Given the description of an element on the screen output the (x, y) to click on. 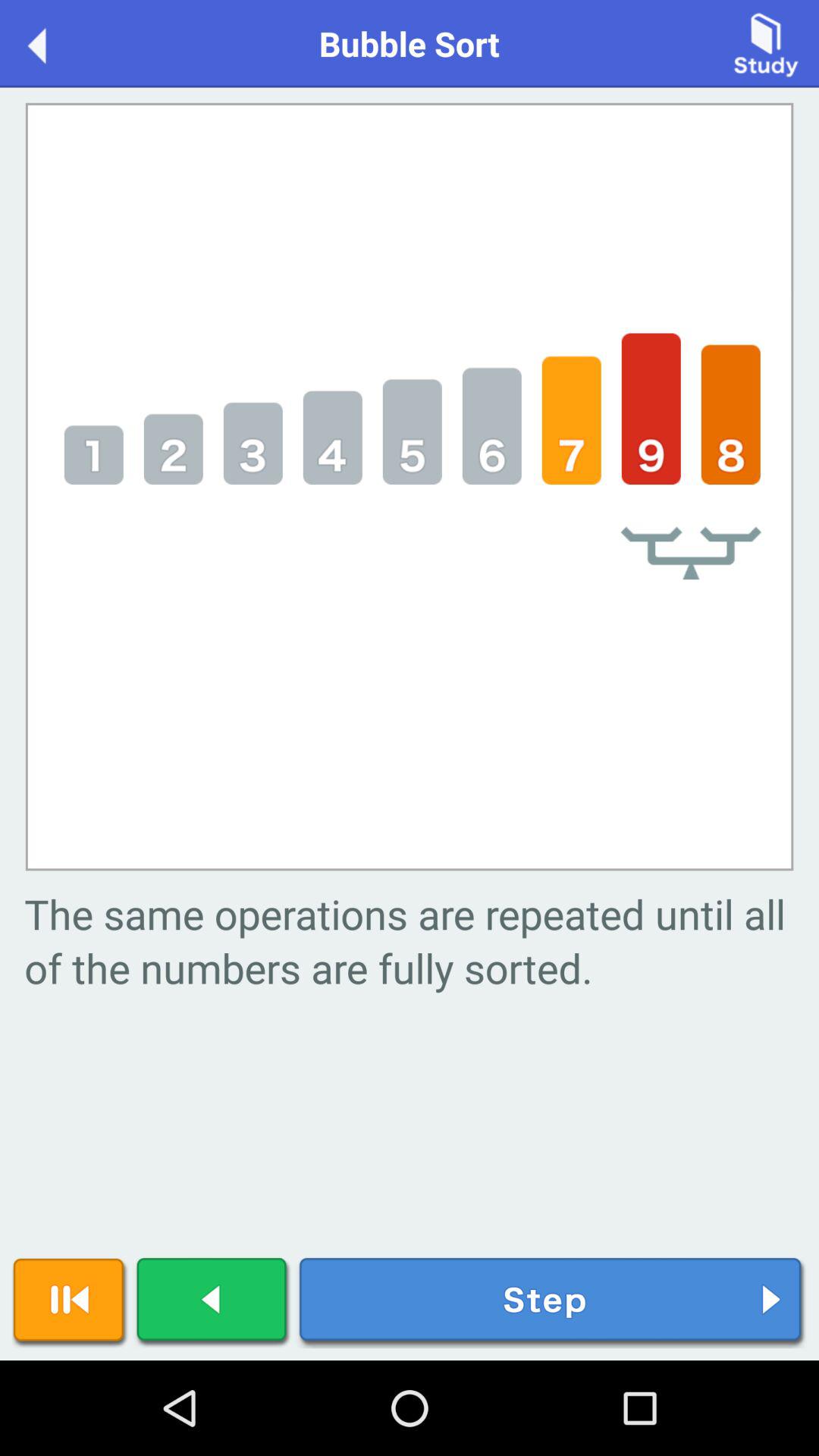
go back (52, 42)
